Given the description of an element on the screen output the (x, y) to click on. 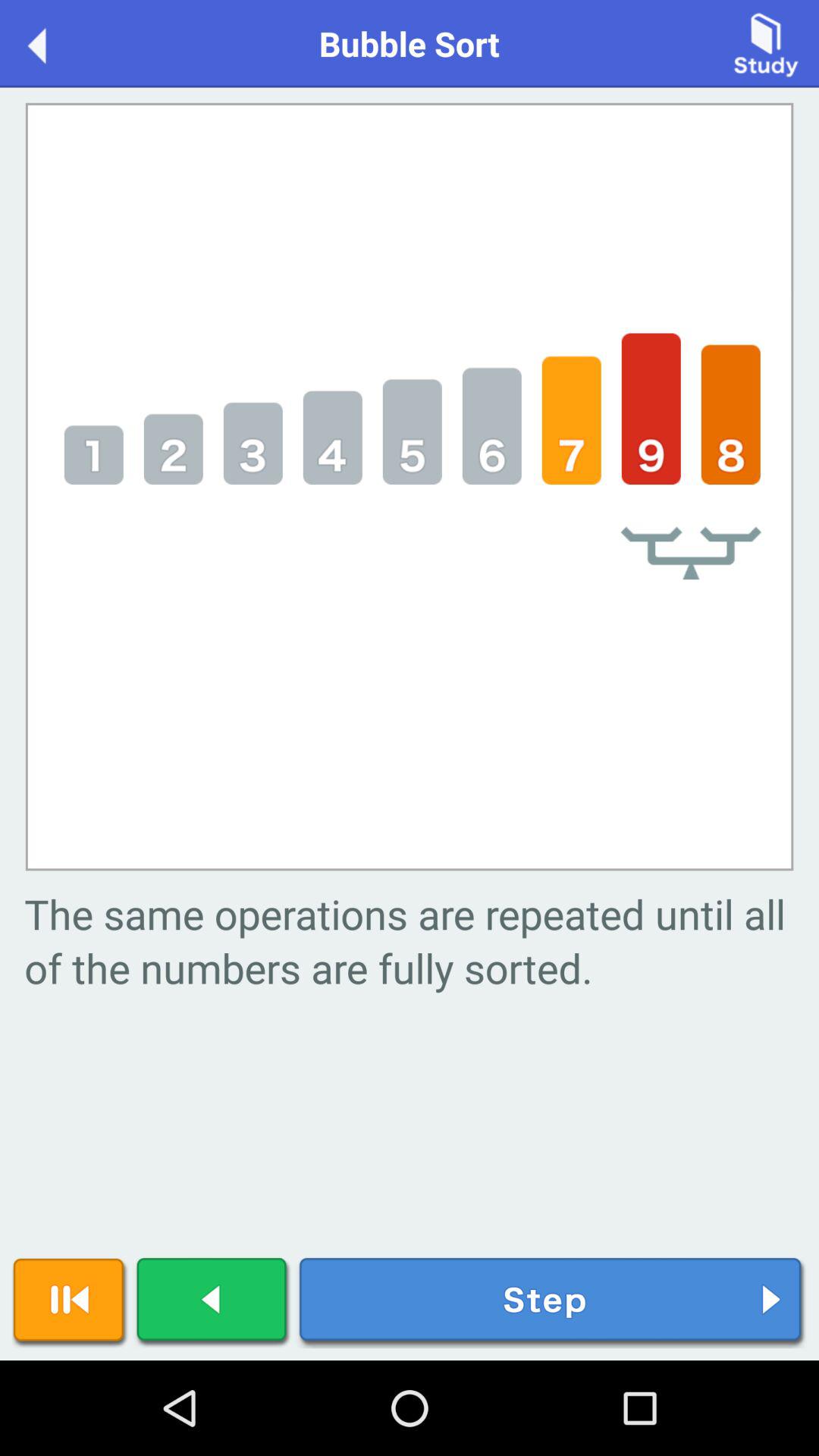
go back (52, 42)
